Given the description of an element on the screen output the (x, y) to click on. 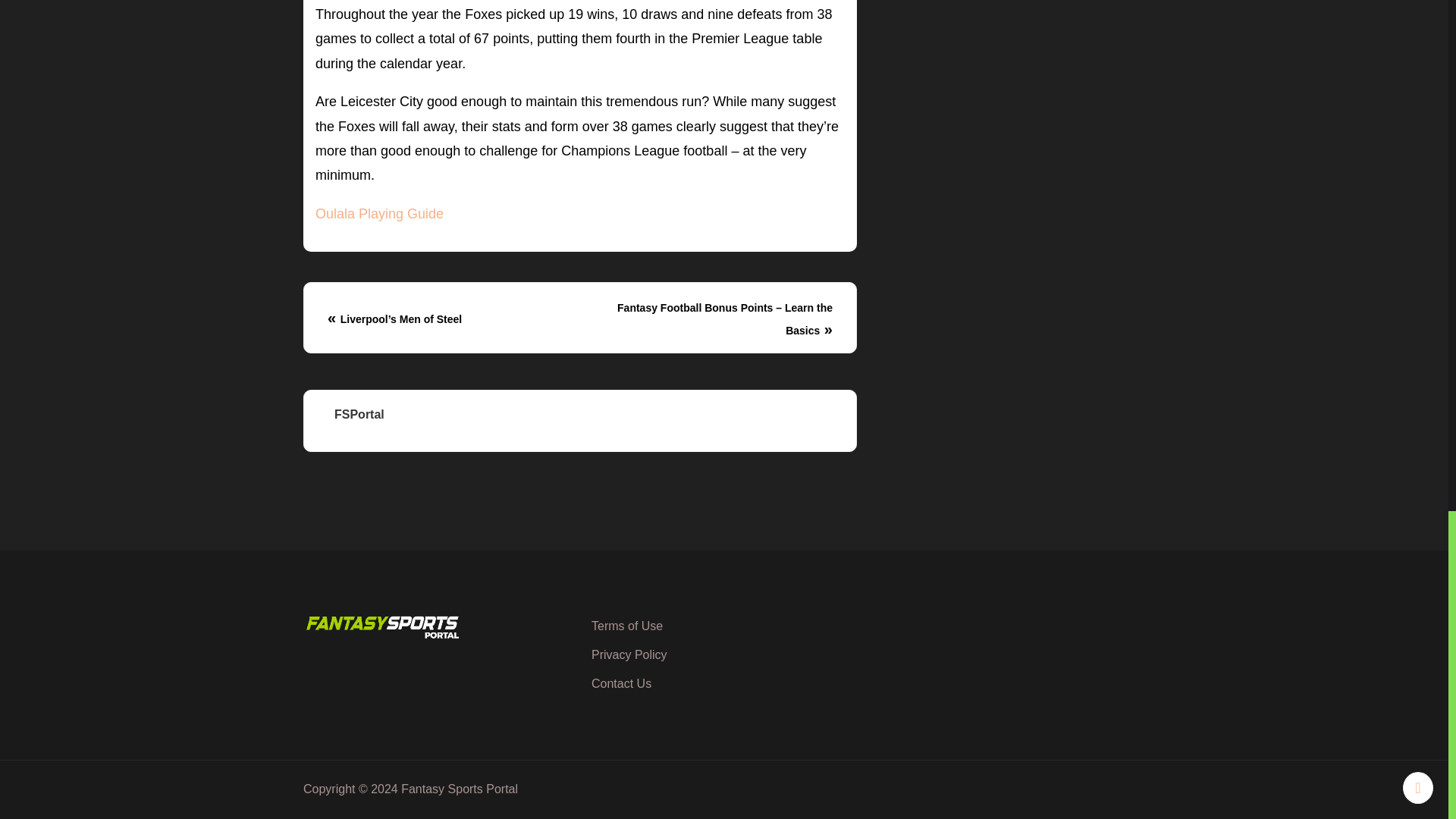
Oulala Playing Guide (379, 213)
Contact Us (620, 683)
Privacy Policy (628, 654)
Terms of Use (626, 625)
